Given the description of an element on the screen output the (x, y) to click on. 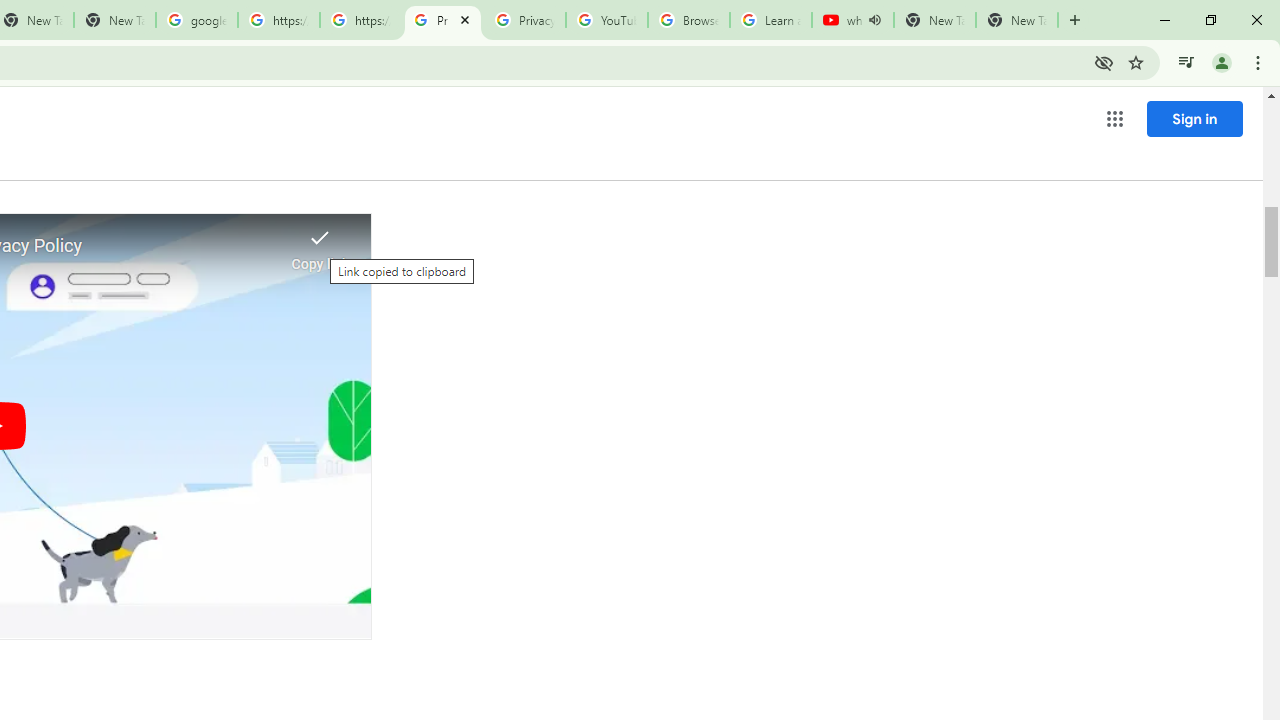
https://scholar.google.com/ (360, 20)
Third-party cookies blocked (1103, 62)
Control your music, videos, and more (1185, 62)
YouTube (606, 20)
